Given the description of an element on the screen output the (x, y) to click on. 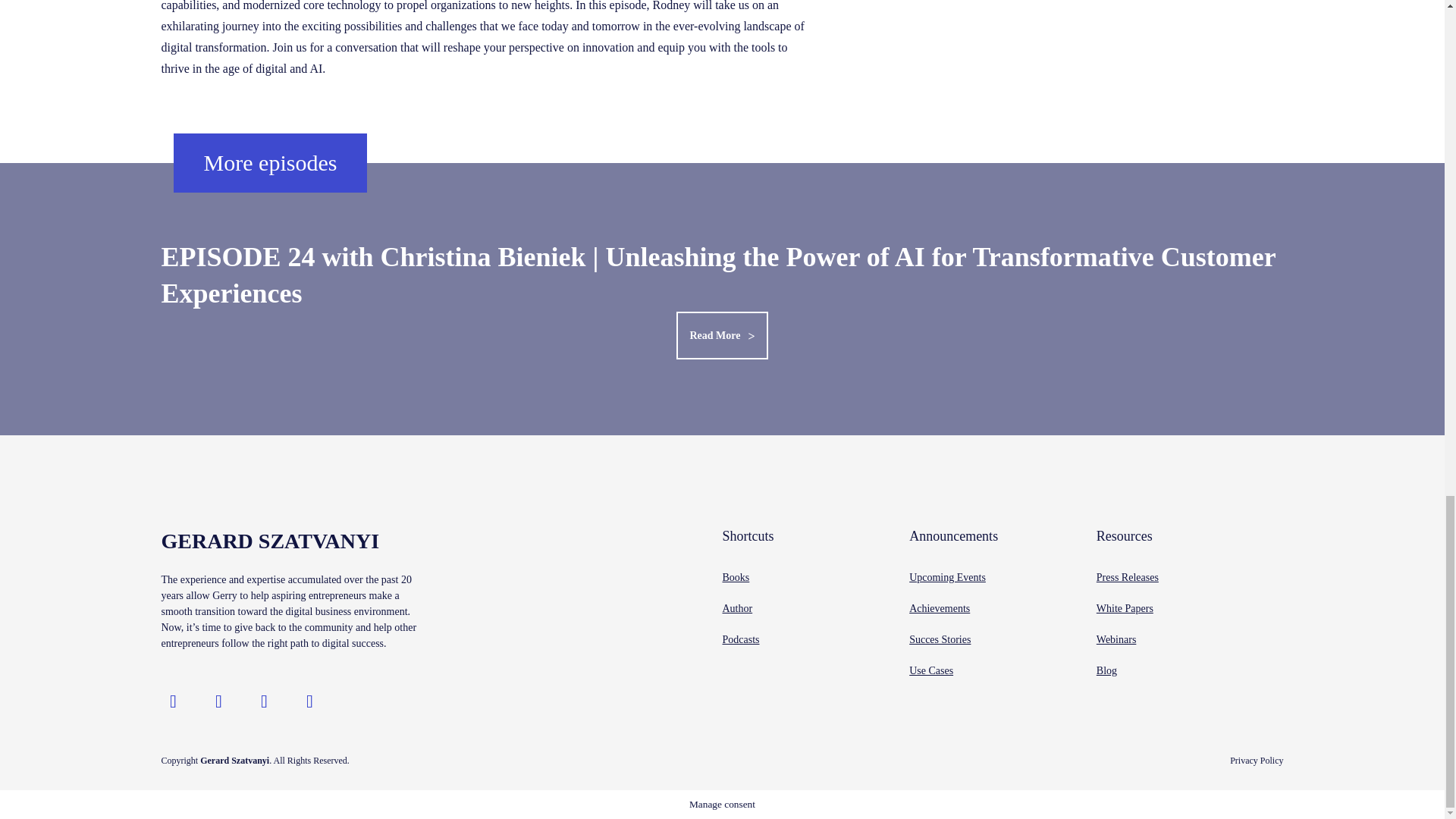
Author (737, 608)
Webinars (1116, 639)
Upcoming Events (946, 577)
Follow on Youtube (263, 701)
White Papers (1124, 608)
Read More (722, 335)
Use Cases (930, 670)
Follow on Instagram (172, 701)
Press Releases (1127, 577)
Books (735, 577)
